Given the description of an element on the screen output the (x, y) to click on. 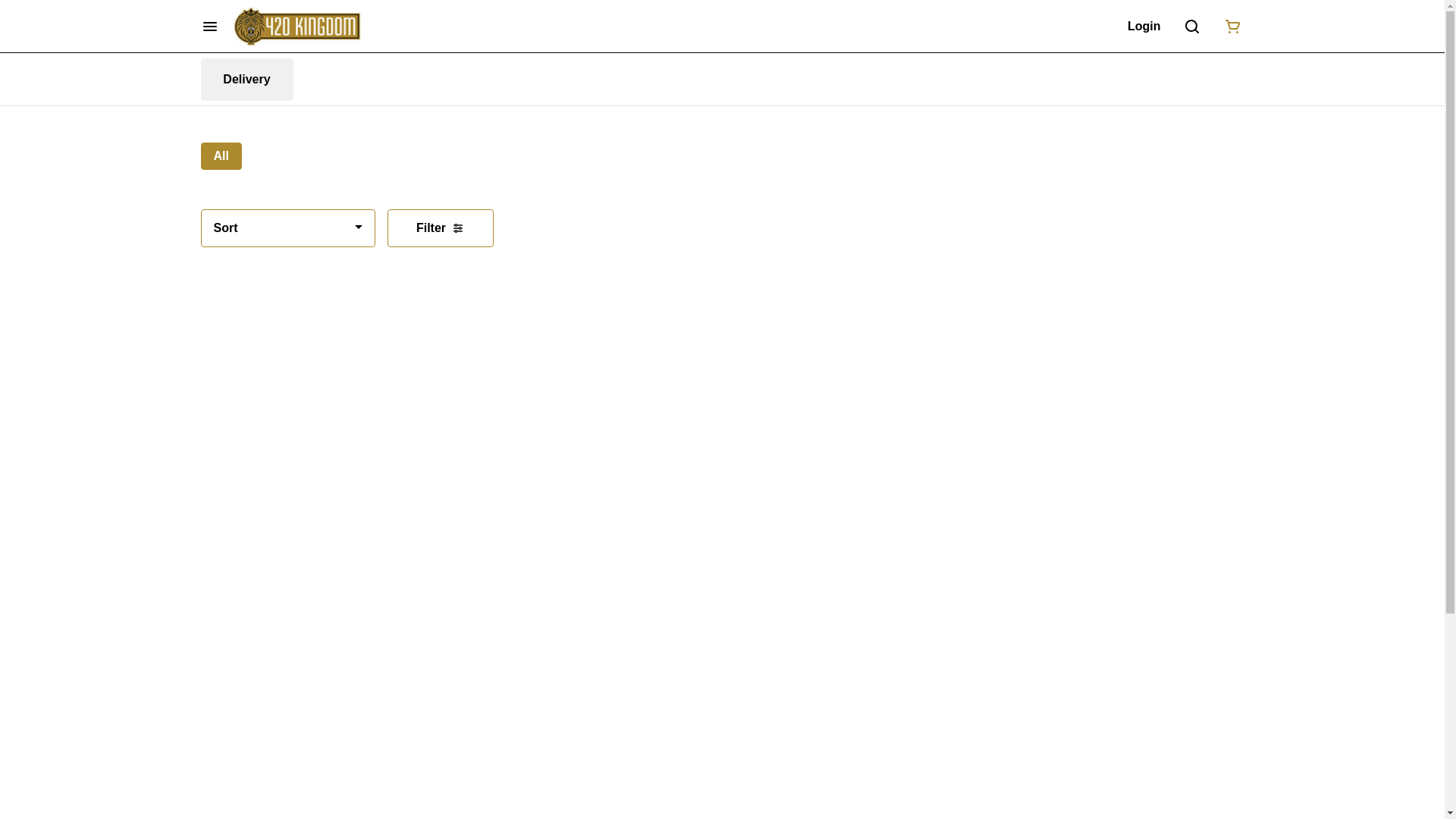
Filter Element type: text (439, 228)
Login Element type: text (1144, 26)
All Element type: text (220, 155)
